Given the description of an element on the screen output the (x, y) to click on. 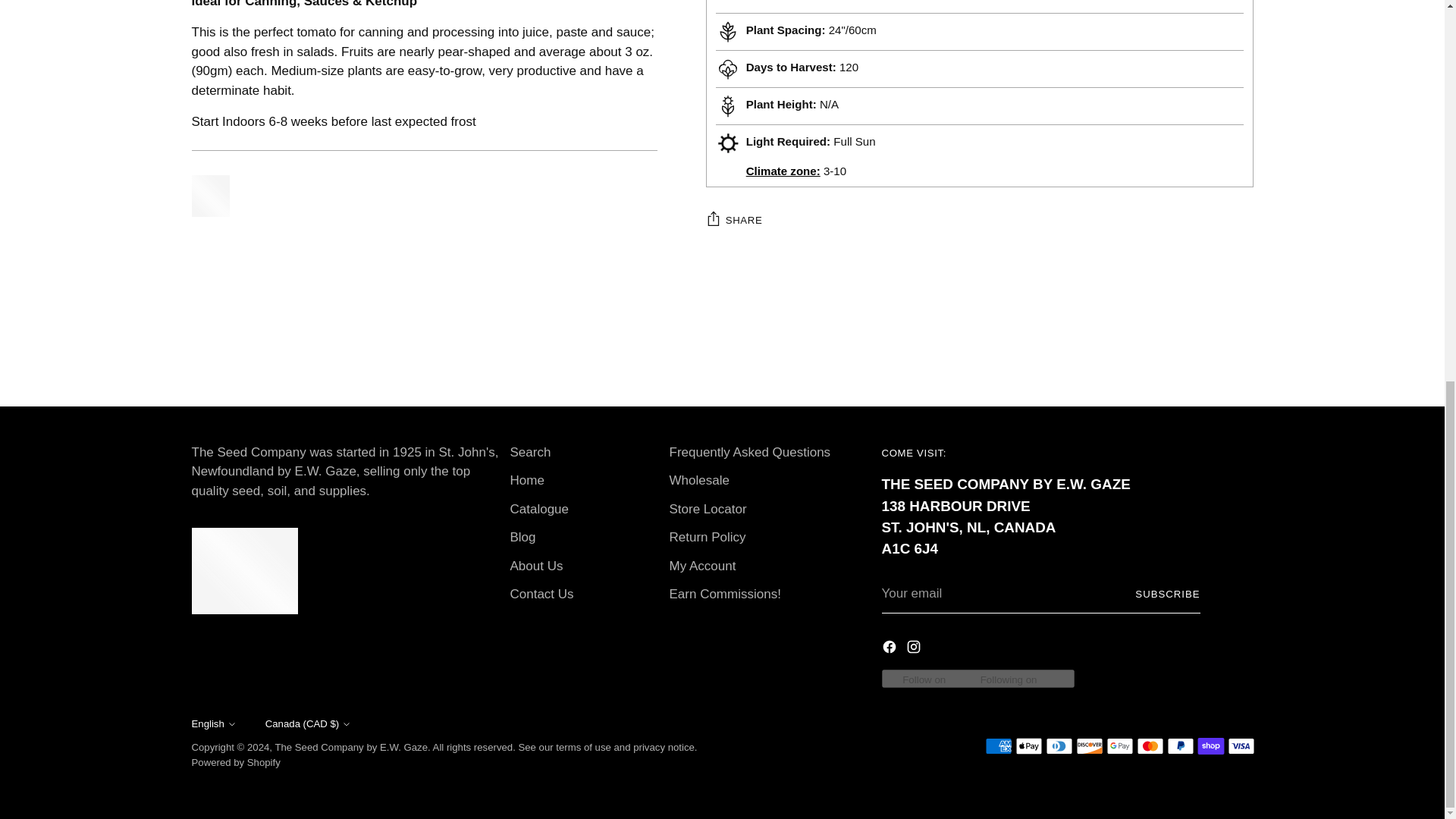
Canada climate zones (783, 113)
